Given the description of an element on the screen output the (x, y) to click on. 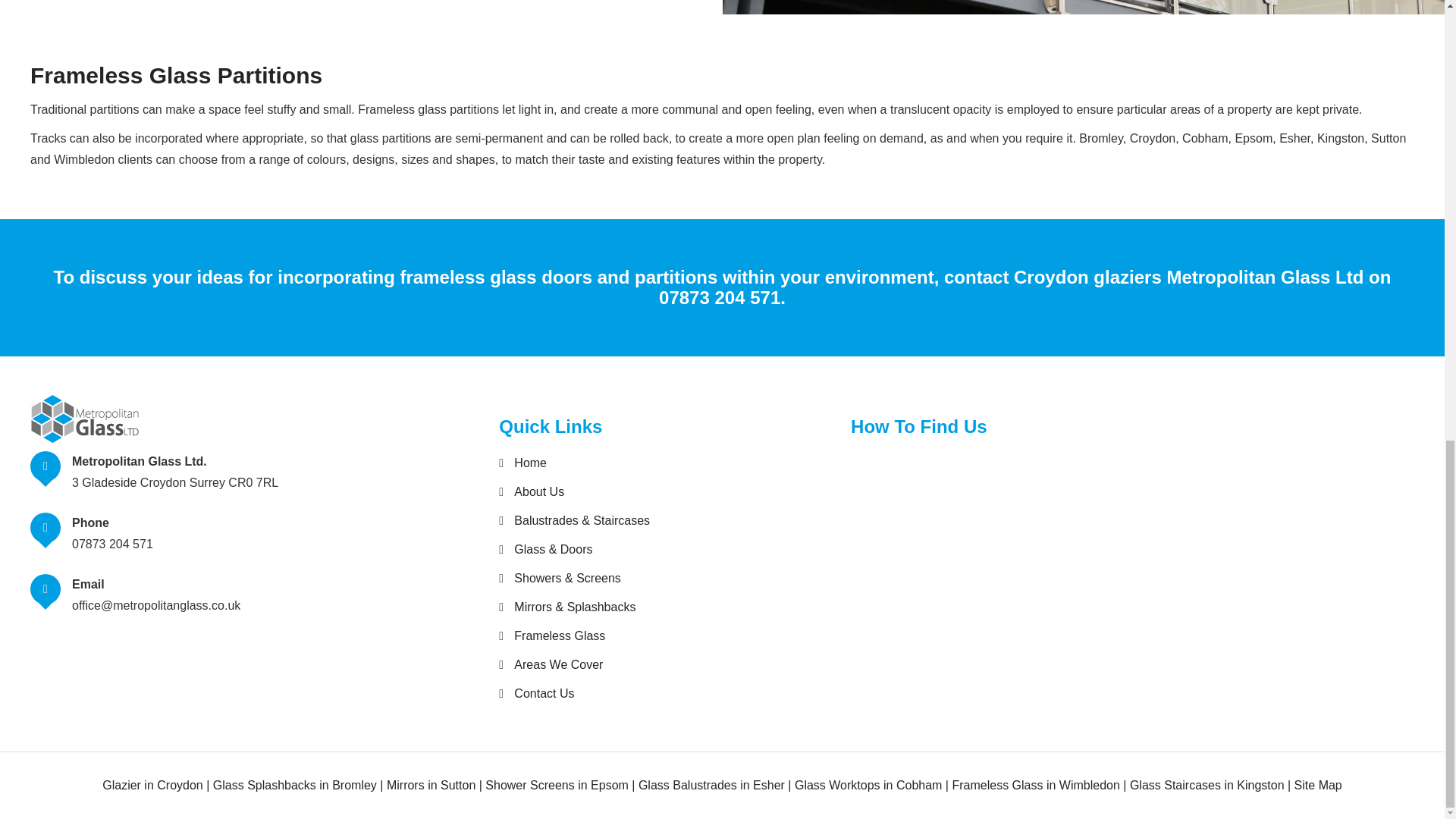
Glazier in Croydon (152, 784)
Home (523, 462)
07873 204 571 (719, 297)
About Us (531, 491)
Contact Us (536, 693)
Frameless Glass (552, 635)
Glass Balustrades in Esher (711, 784)
Glass Splashbacks in Bromley (294, 784)
Glass Worktops in Cobham (868, 784)
Shower Screens in Epsom (556, 784)
